Given the description of an element on the screen output the (x, y) to click on. 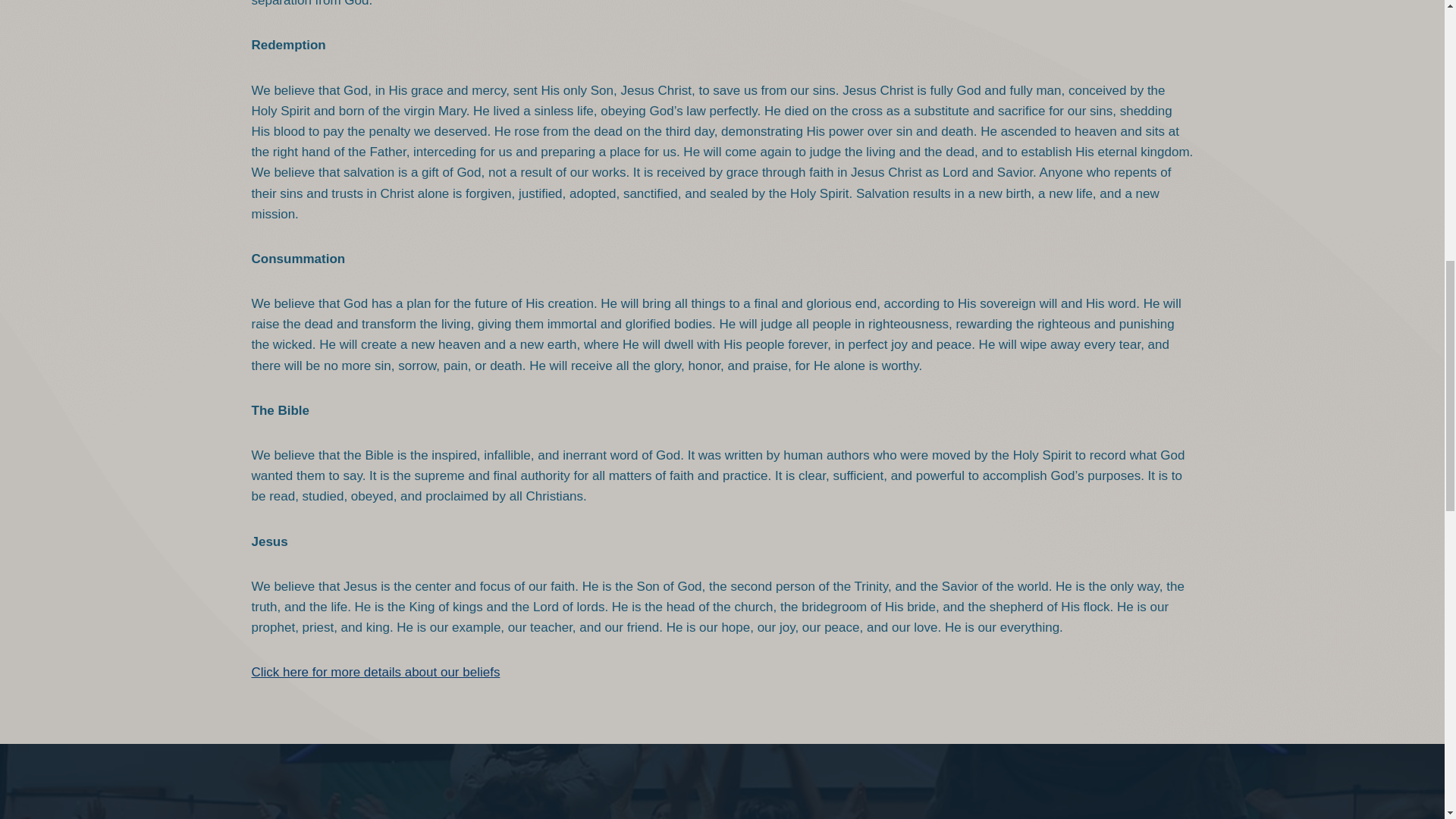
Click here for more details about our beliefs (375, 672)
